Given the description of an element on the screen output the (x, y) to click on. 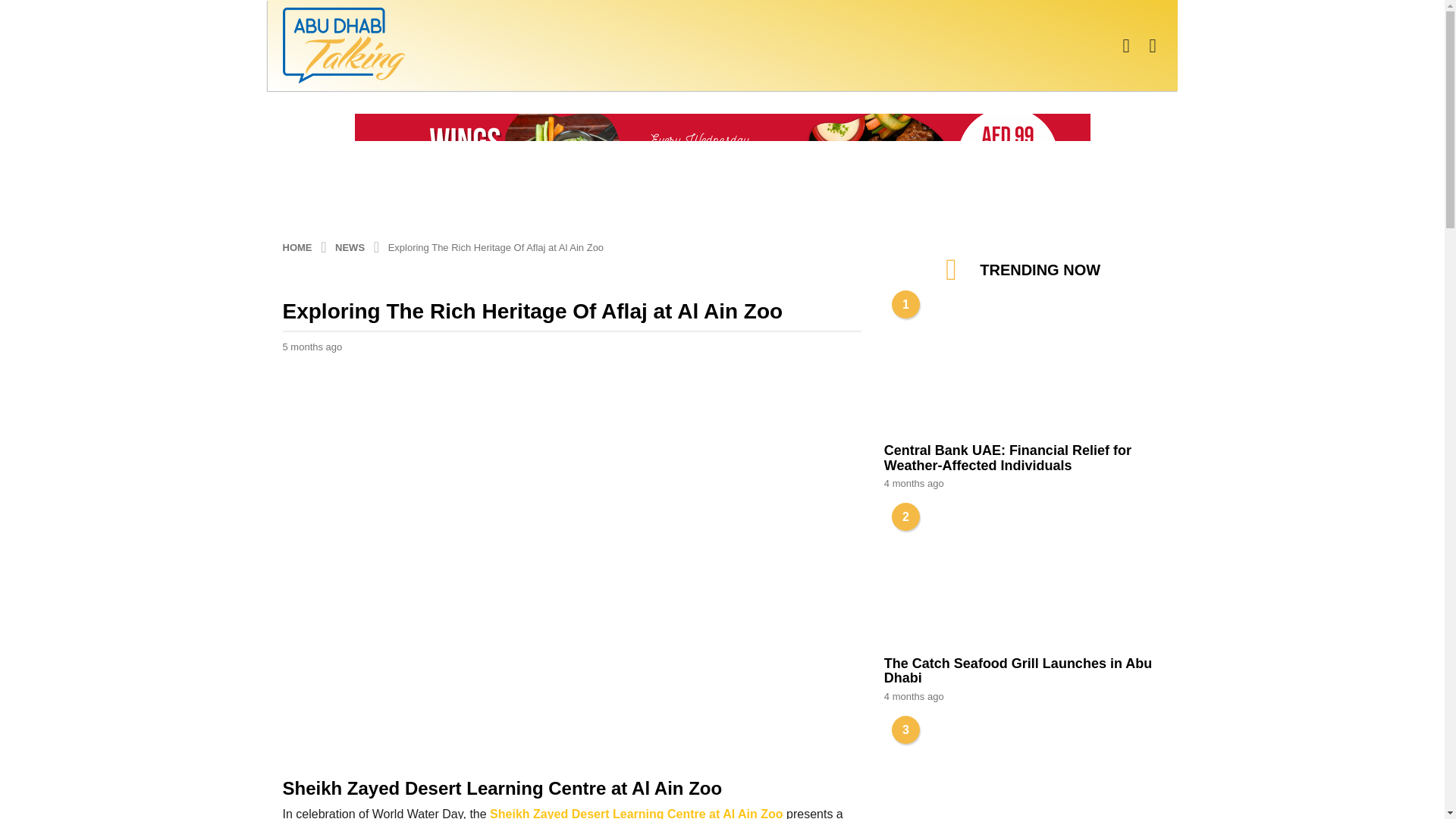
NEWS (351, 246)
Sheikh Zayed Desert Learning Centre at Al Ain Zoo (636, 813)
HOME (298, 246)
Exploring The Rich Heritage Of Aflaj at Al Ain Zoo (496, 246)
The Catch Seafood Grill Launches in Abu Dhabi (1022, 578)
